Given the description of an element on the screen output the (x, y) to click on. 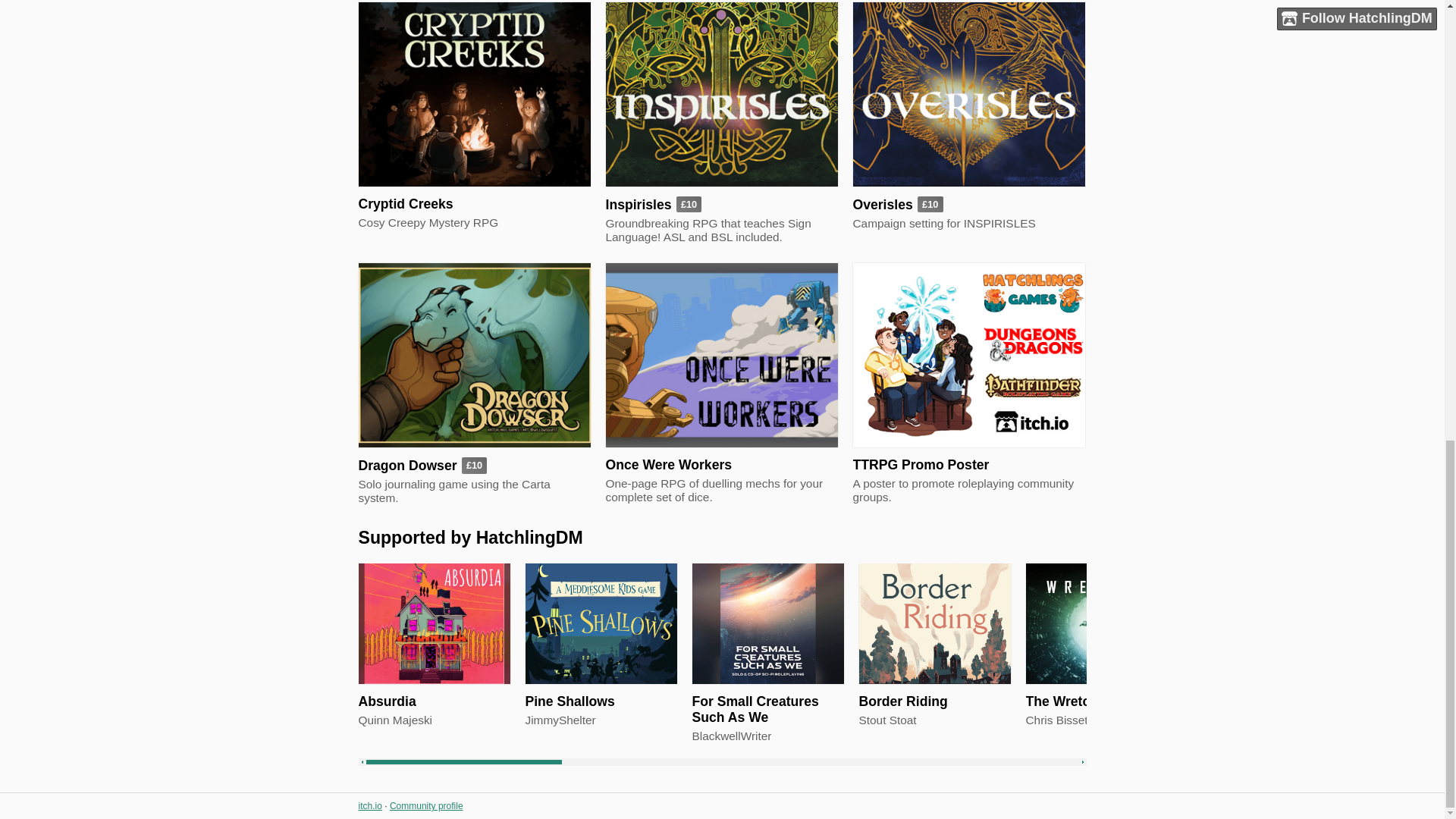
BlackwellWriter (731, 735)
A poster to promote roleplaying community groups. (967, 490)
Absurdia (386, 701)
JimmyShelter (559, 720)
Dragon Dowser (407, 465)
Inspirisles (638, 204)
Overisles (881, 204)
Quinn Majeski (395, 720)
